Given the description of an element on the screen output the (x, y) to click on. 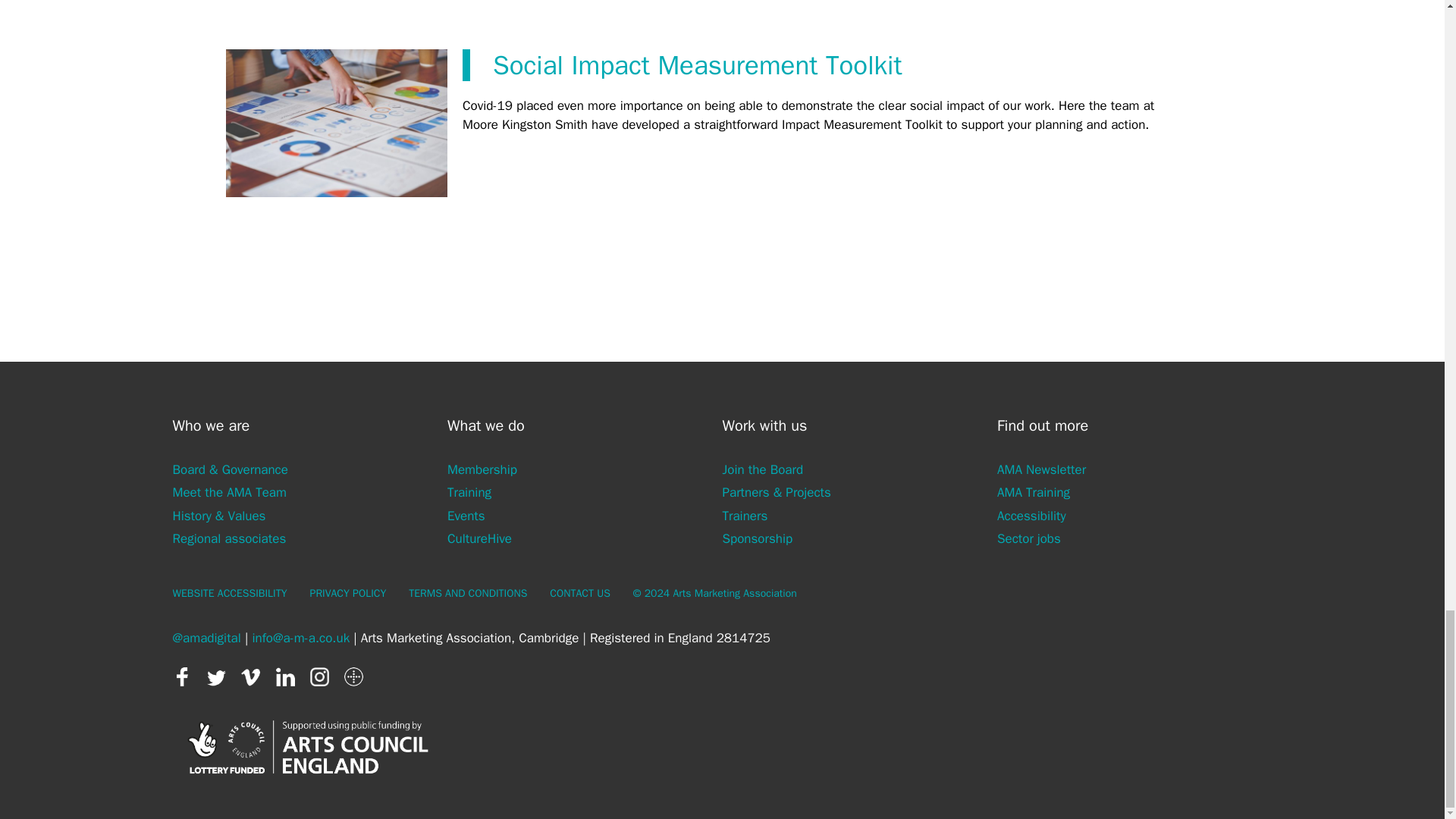
Membership (481, 468)
Training (469, 492)
Meet the AMA Team (229, 492)
Social Impact Measurement Toolkit (697, 64)
Regional associates (229, 538)
